Given the description of an element on the screen output the (x, y) to click on. 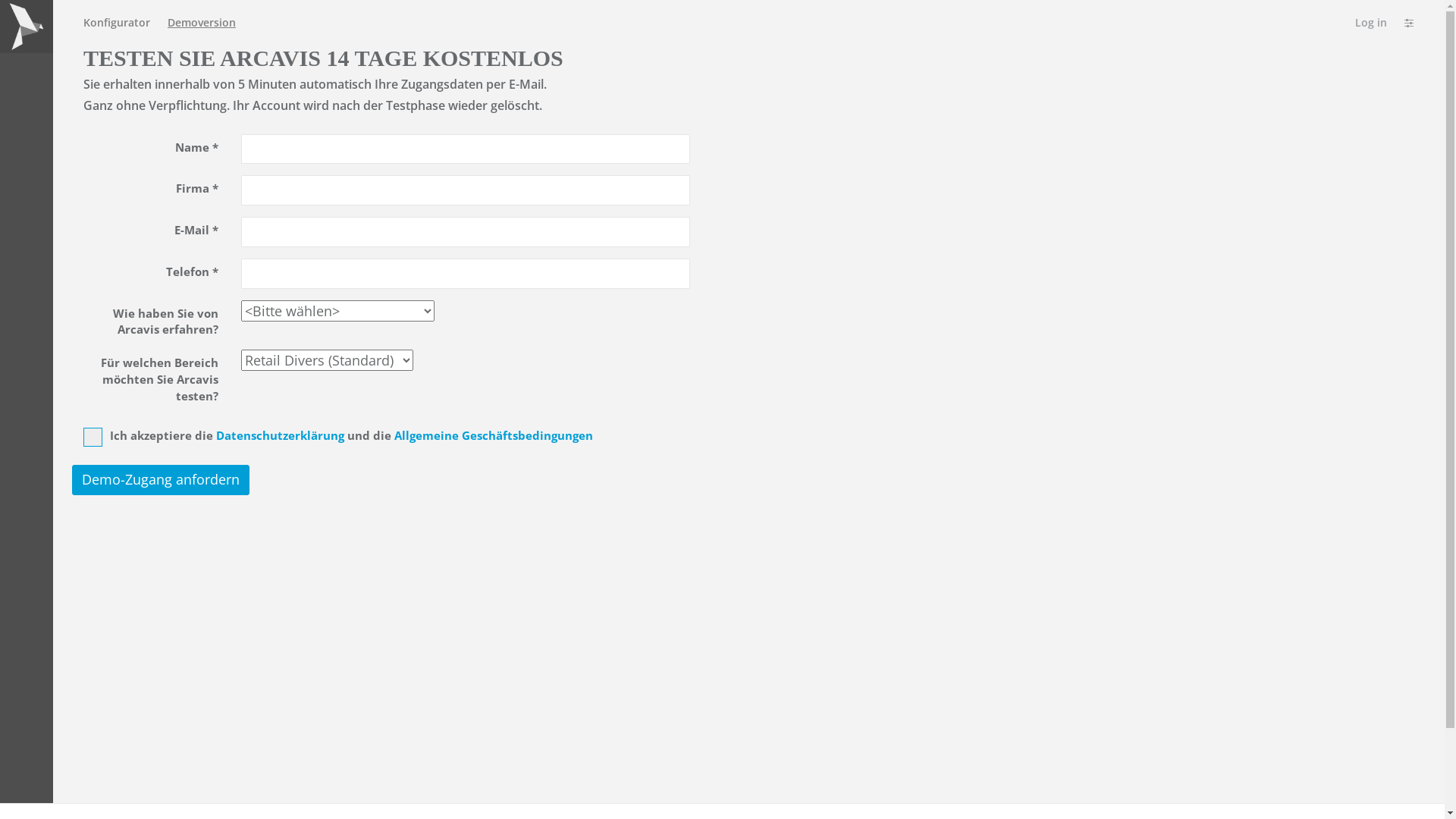
Einstellungen Element type: hover (1410, 22)
Log in Element type: text (1370, 22)
Konfigurator Element type: text (116, 22)
Demoversion Element type: text (201, 22)
